Given the description of an element on the screen output the (x, y) to click on. 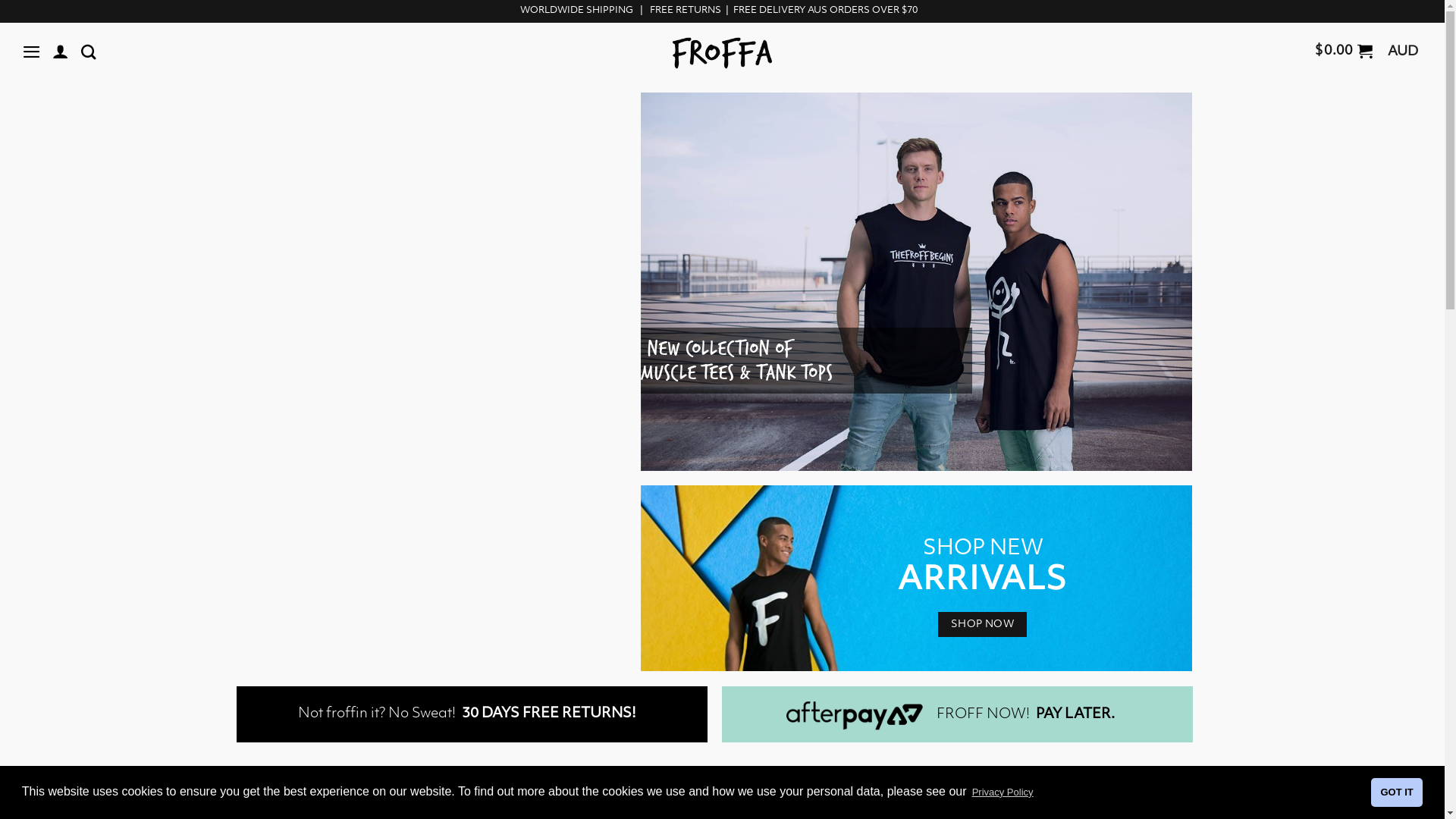
GOT IT Element type: text (1396, 792)
SHOP NOW Element type: text (982, 623)
$0.00 Element type: text (1343, 53)
Skip to content Element type: text (0, 0)
FROFFA - LIKE NO OTHER Element type: hover (721, 53)
MENU Element type: text (32, 51)
AUD Element type: text (1406, 53)
Privacy Policy Element type: text (1002, 792)
